Given the description of an element on the screen output the (x, y) to click on. 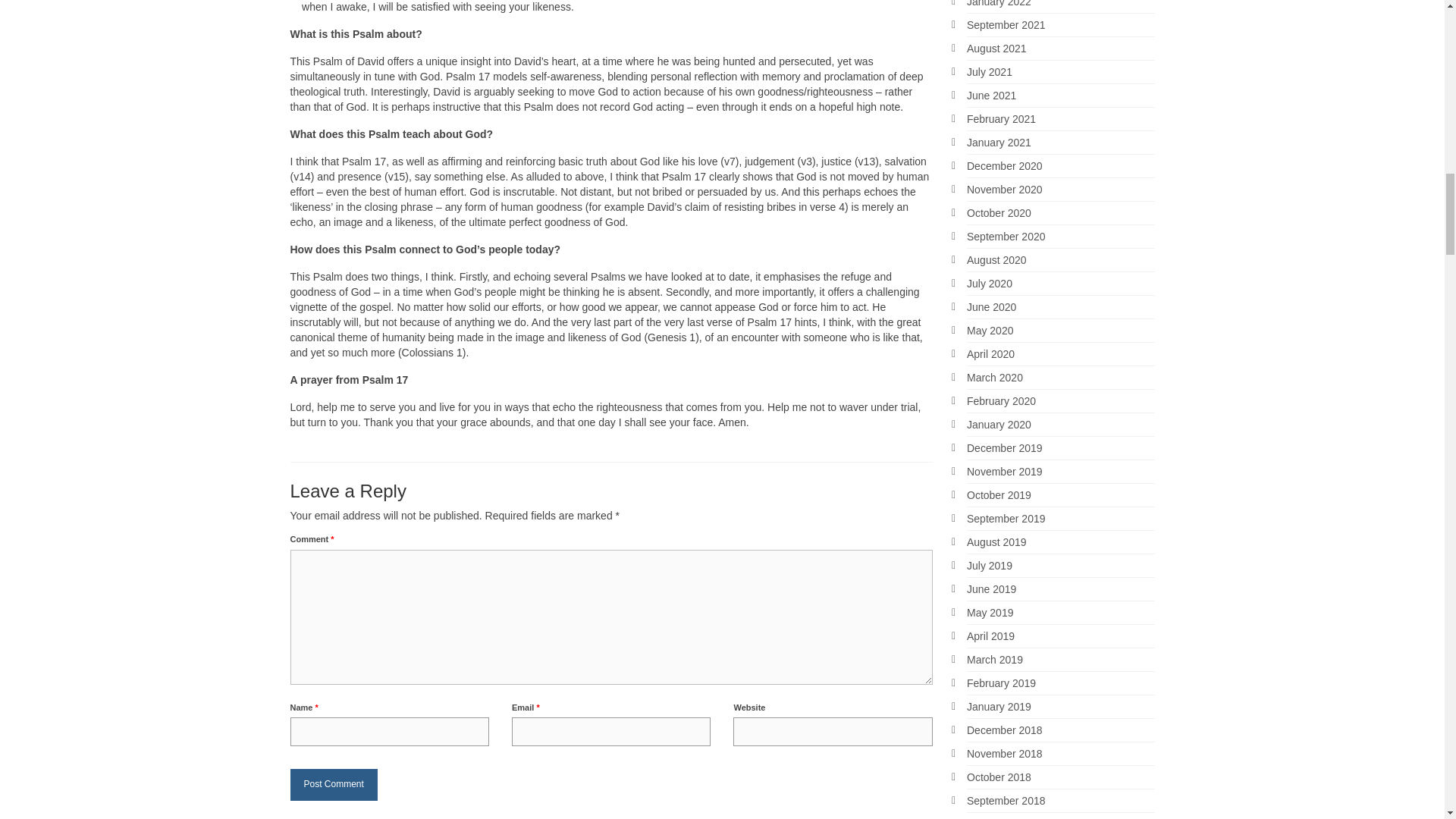
Post Comment (333, 784)
Post Comment (333, 784)
